Given the description of an element on the screen output the (x, y) to click on. 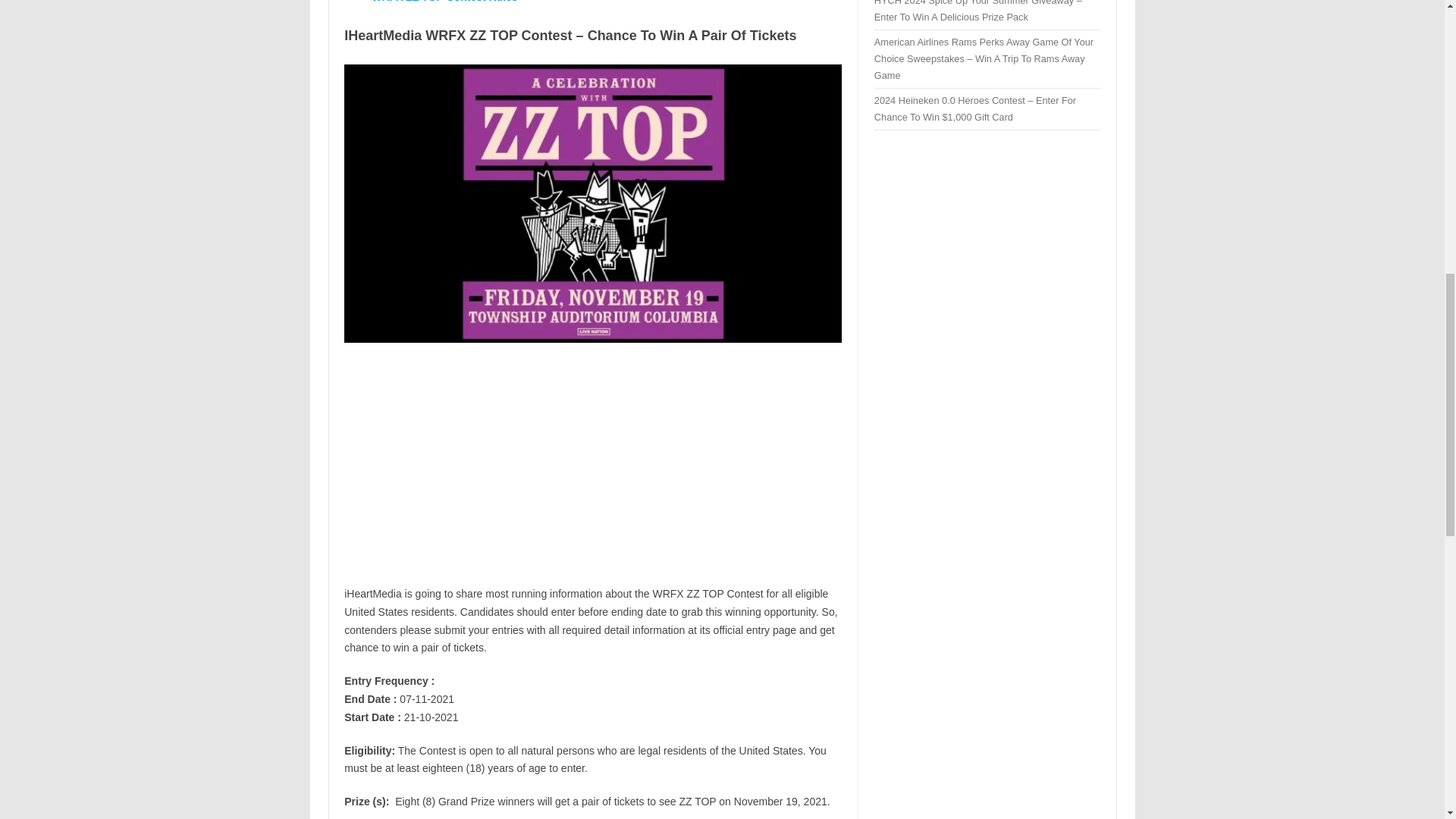
WRFX ZZ TOP Contest Rules (443, 1)
WRFX ZZ TOP Contest Rules (443, 1)
